Given the description of an element on the screen output the (x, y) to click on. 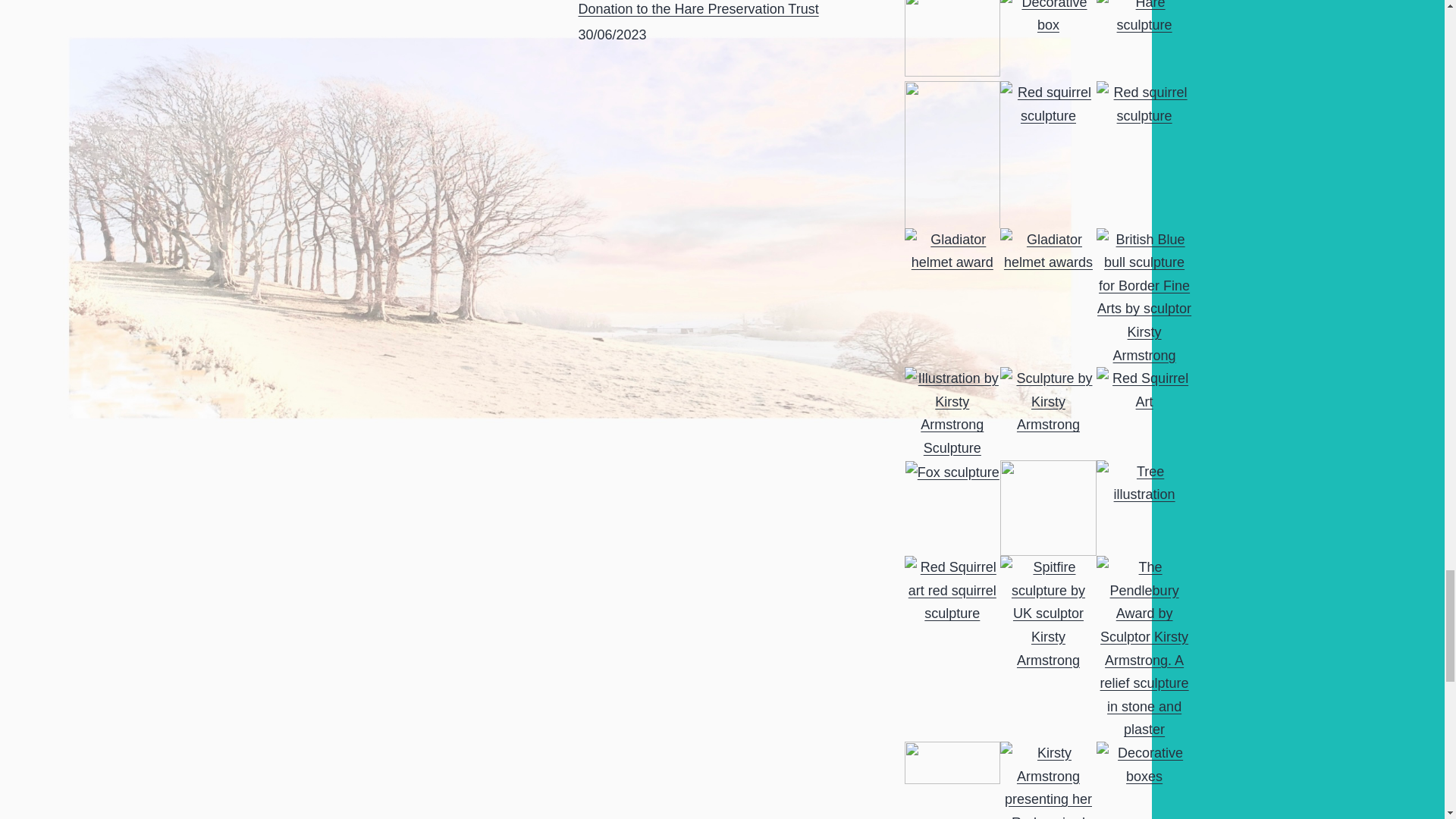
Donation to the Hare Preservation Trust (698, 8)
